Given the description of an element on the screen output the (x, y) to click on. 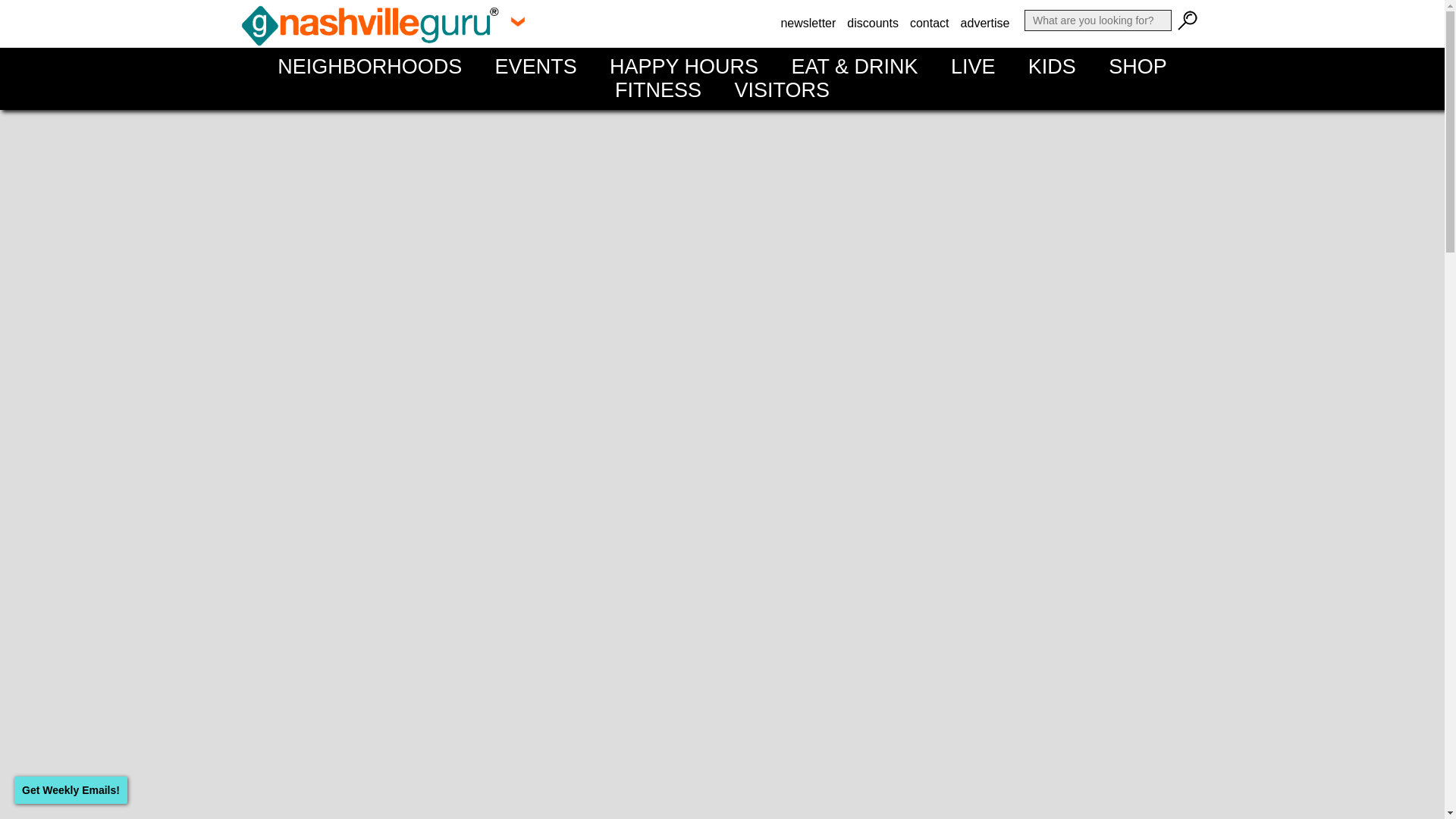
FITNESS (657, 89)
KIDS (1051, 66)
SHOP (1137, 66)
contact (929, 22)
discounts (872, 22)
LIVE (973, 66)
EVENTS (535, 66)
newsletter (808, 22)
